Given the description of an element on the screen output the (x, y) to click on. 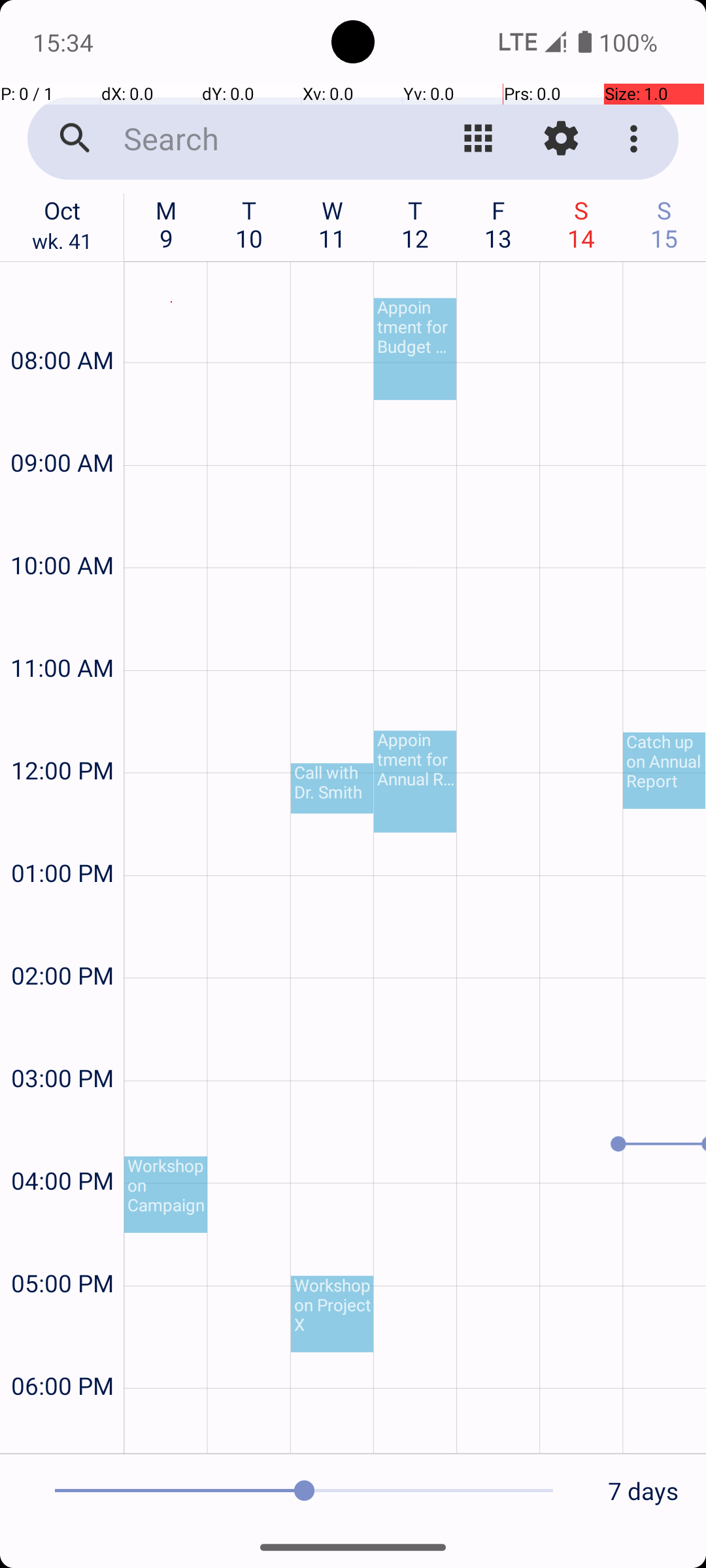
wk. 41 Element type: android.widget.TextView (62, 243)
08:00 AM Element type: android.widget.TextView (62, 324)
09:00 AM Element type: android.widget.TextView (62, 427)
10:00 AM Element type: android.widget.TextView (62, 529)
11:00 AM Element type: android.widget.TextView (62, 632)
12:00 PM Element type: android.widget.TextView (62, 735)
01:00 PM Element type: android.widget.TextView (62, 837)
02:00 PM Element type: android.widget.TextView (62, 940)
03:00 PM Element type: android.widget.TextView (62, 1042)
04:00 PM Element type: android.widget.TextView (62, 1145)
05:00 PM Element type: android.widget.TextView (62, 1247)
06:00 PM Element type: android.widget.TextView (62, 1350)
07:00 PM Element type: android.widget.TextView (62, 1428)
M
9 Element type: android.widget.TextView (165, 223)
T
10 Element type: android.widget.TextView (248, 223)
W
11 Element type: android.widget.TextView (331, 223)
T
12 Element type: android.widget.TextView (414, 223)
F
13 Element type: android.widget.TextView (497, 223)
S
14 Element type: android.widget.TextView (580, 223)
Workshop on Project X Element type: android.widget.TextView (331, 1313)
Call with Dr. Smith Element type: android.widget.TextView (331, 788)
